Given the description of an element on the screen output the (x, y) to click on. 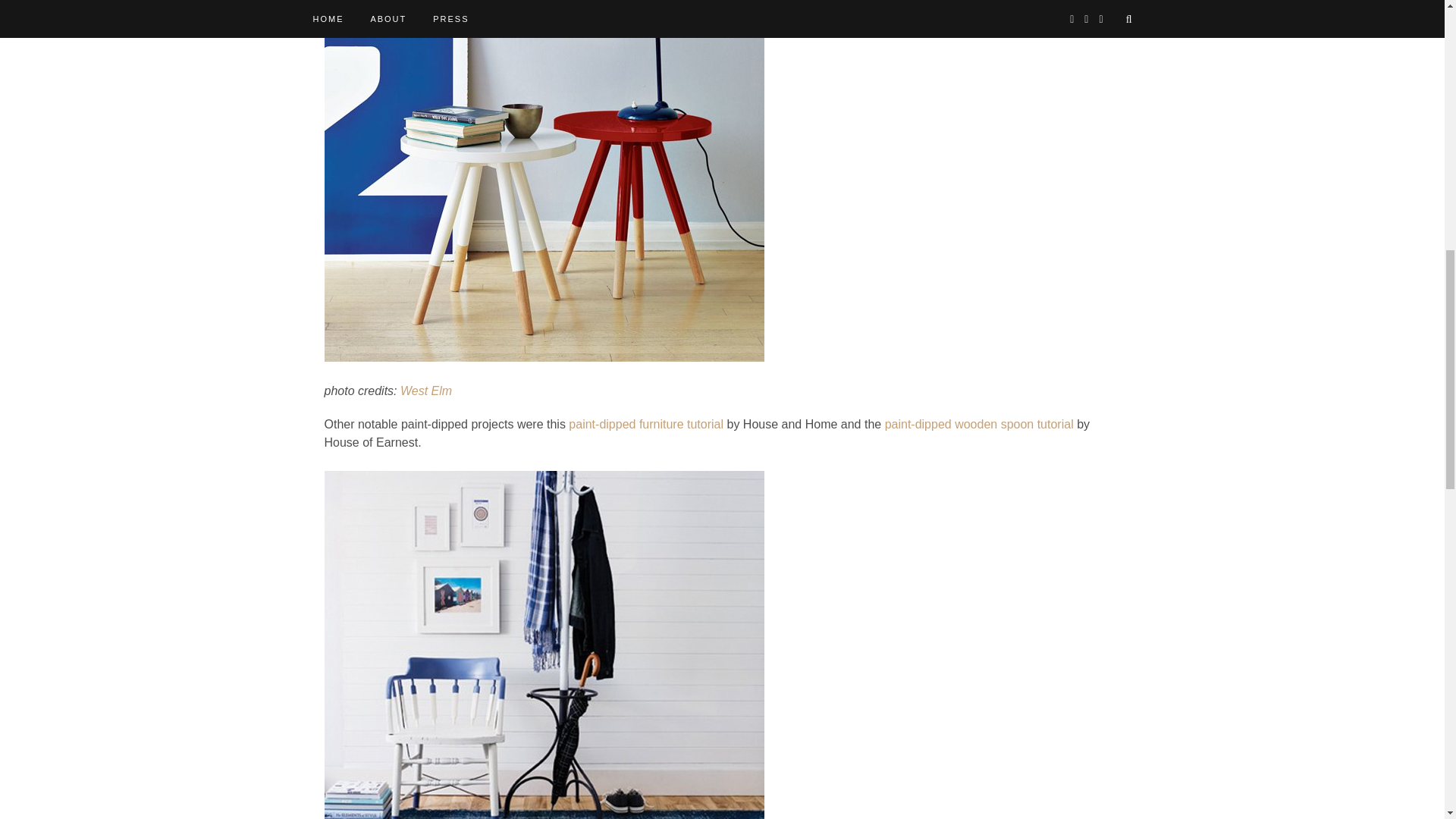
paint-dipped furniture tutorial (646, 423)
paint-dipped wooden spoon tutorial (979, 423)
West Elm (425, 390)
